Given the description of an element on the screen output the (x, y) to click on. 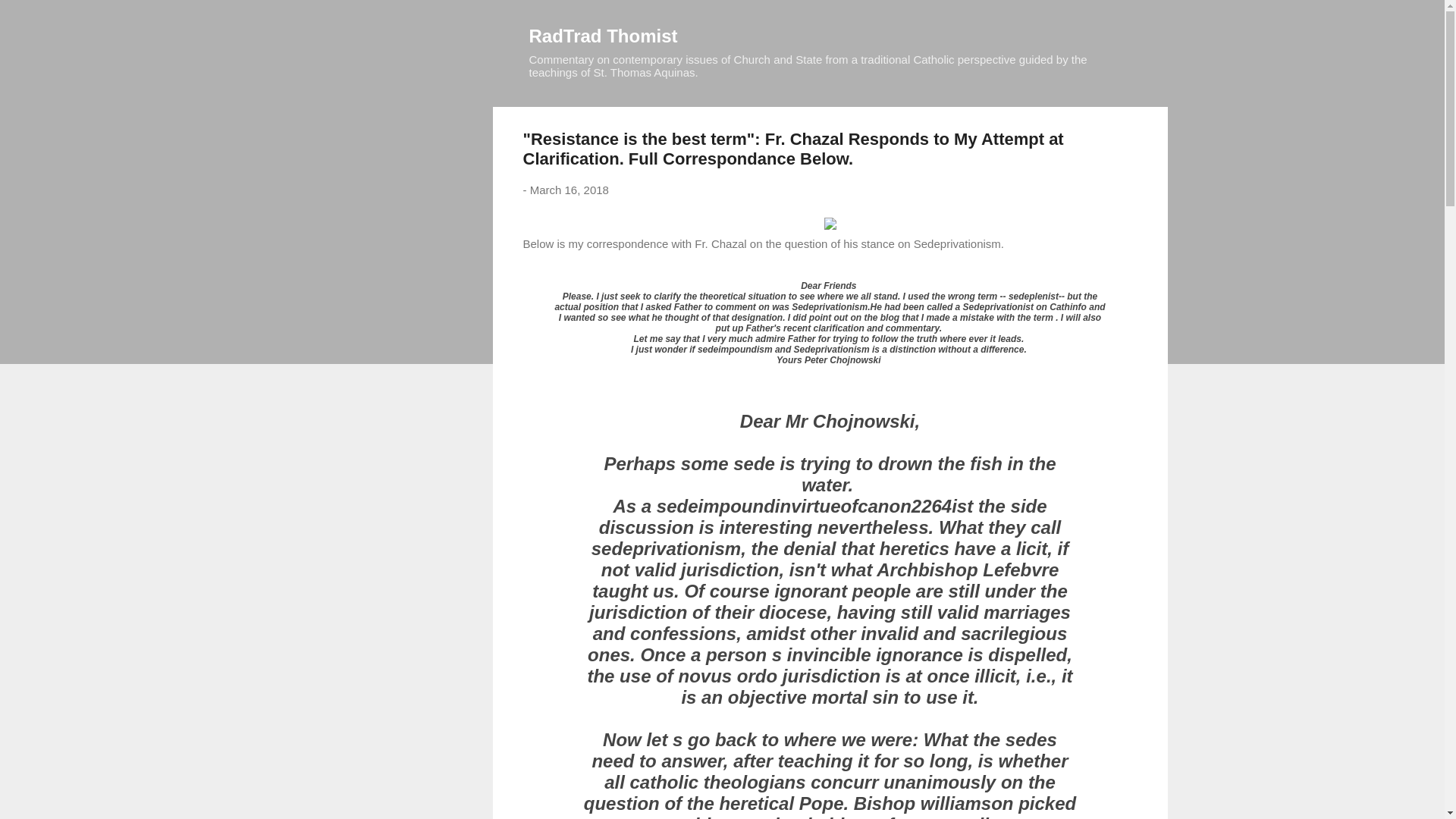
Search (29, 18)
March 16, 2018 (568, 189)
RadTrad Thomist (603, 35)
permanent link (568, 189)
